Given the description of an element on the screen output the (x, y) to click on. 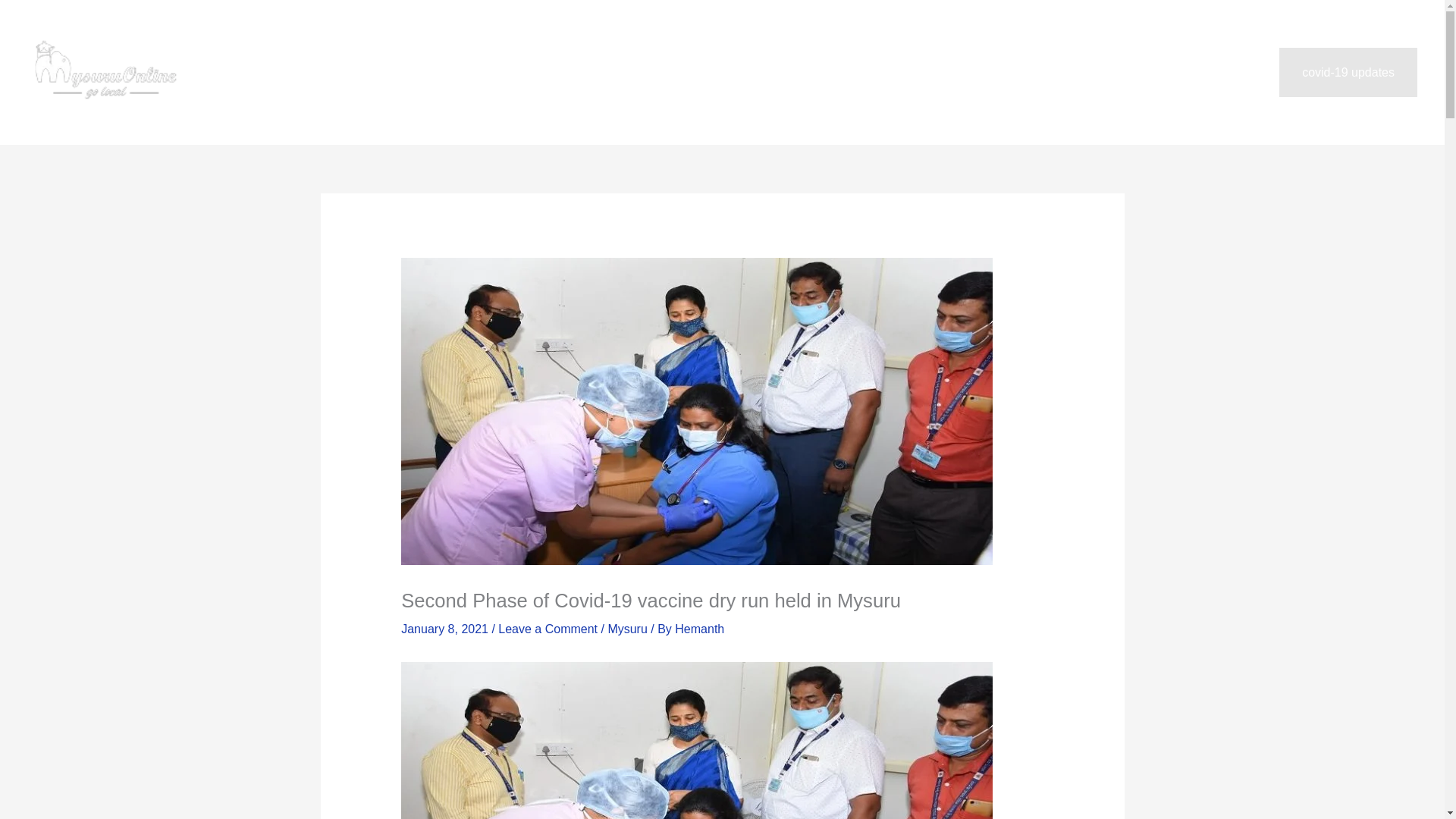
View all posts by Hemanth (699, 628)
Leave a Comment (546, 628)
Mysuru (626, 628)
Hemanth (699, 628)
covid-19 updates (1347, 72)
